Given the description of an element on the screen output the (x, y) to click on. 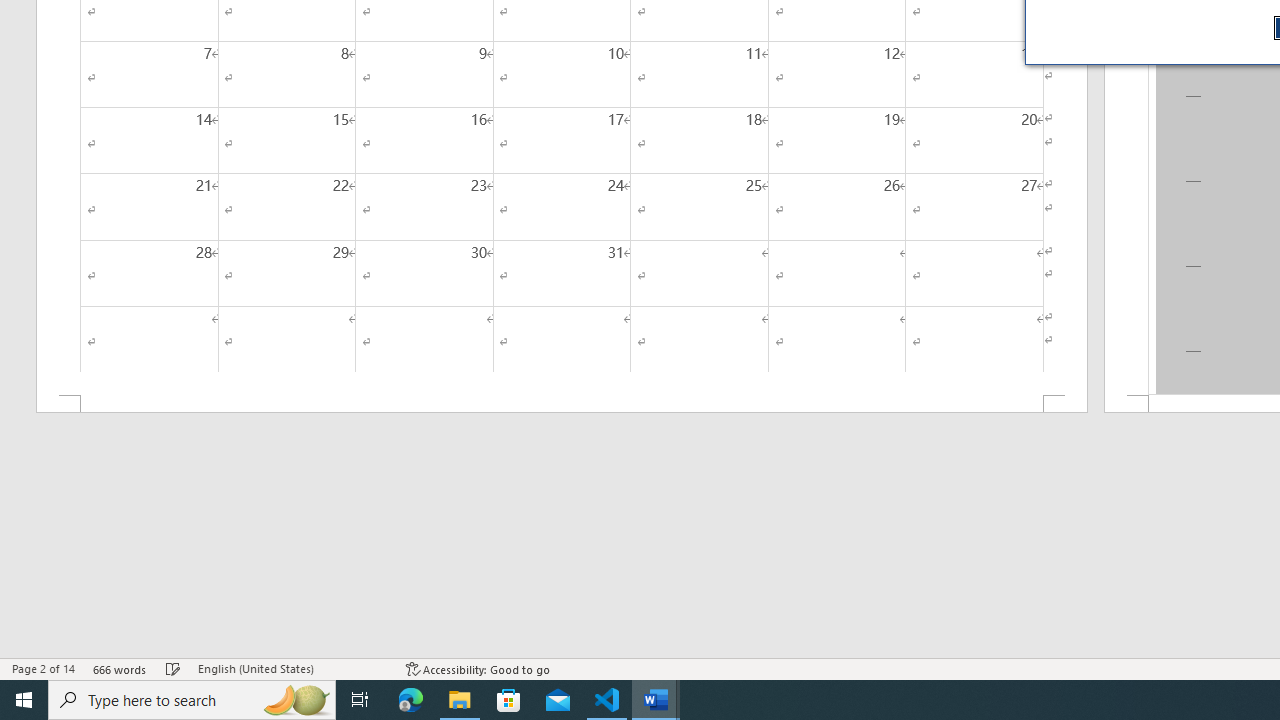
Page Number Page 2 of 14 (43, 668)
